Given the description of an element on the screen output the (x, y) to click on. 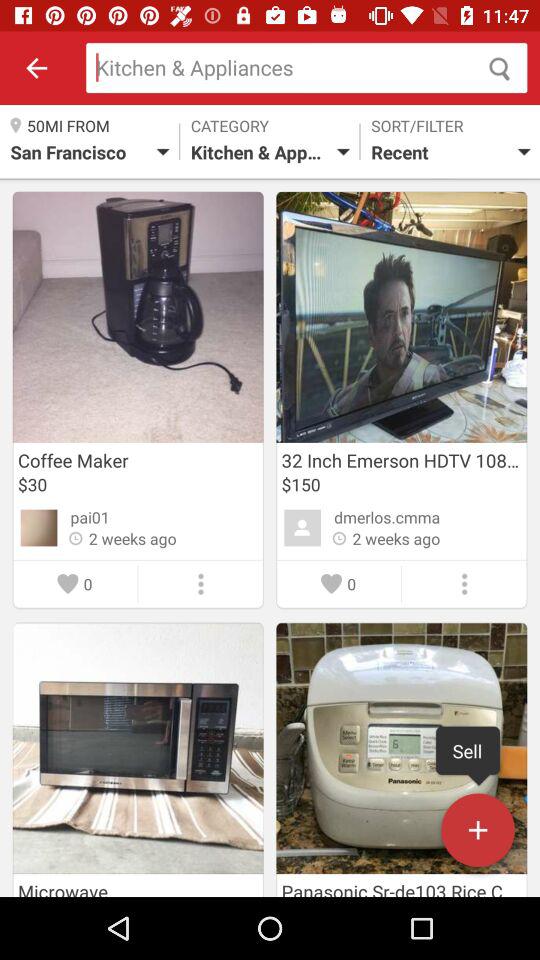
flip to dmerlos.cmma item (387, 517)
